Given the description of an element on the screen output the (x, y) to click on. 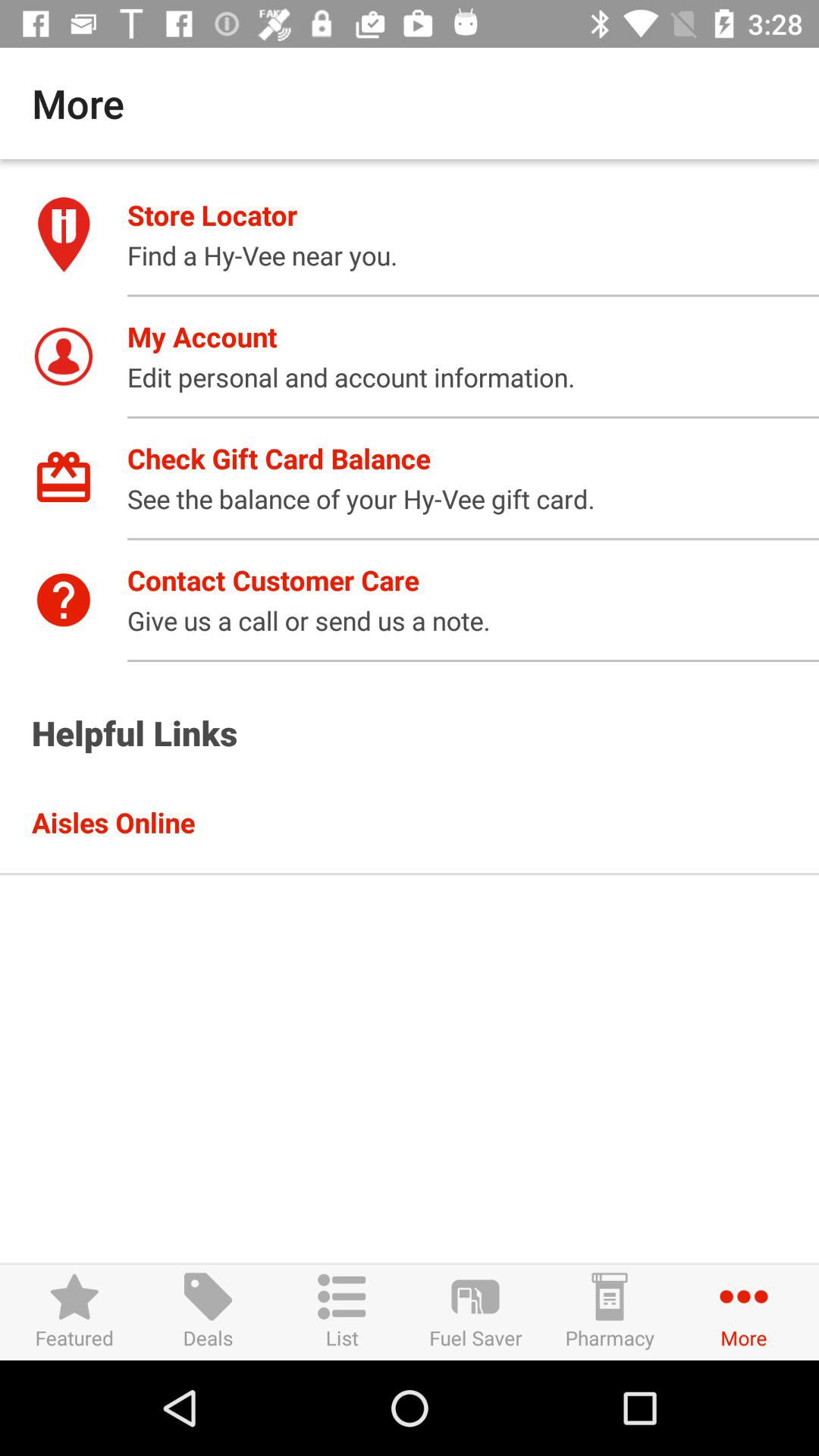
click the icon to the right of deals icon (341, 1311)
